Given the description of an element on the screen output the (x, y) to click on. 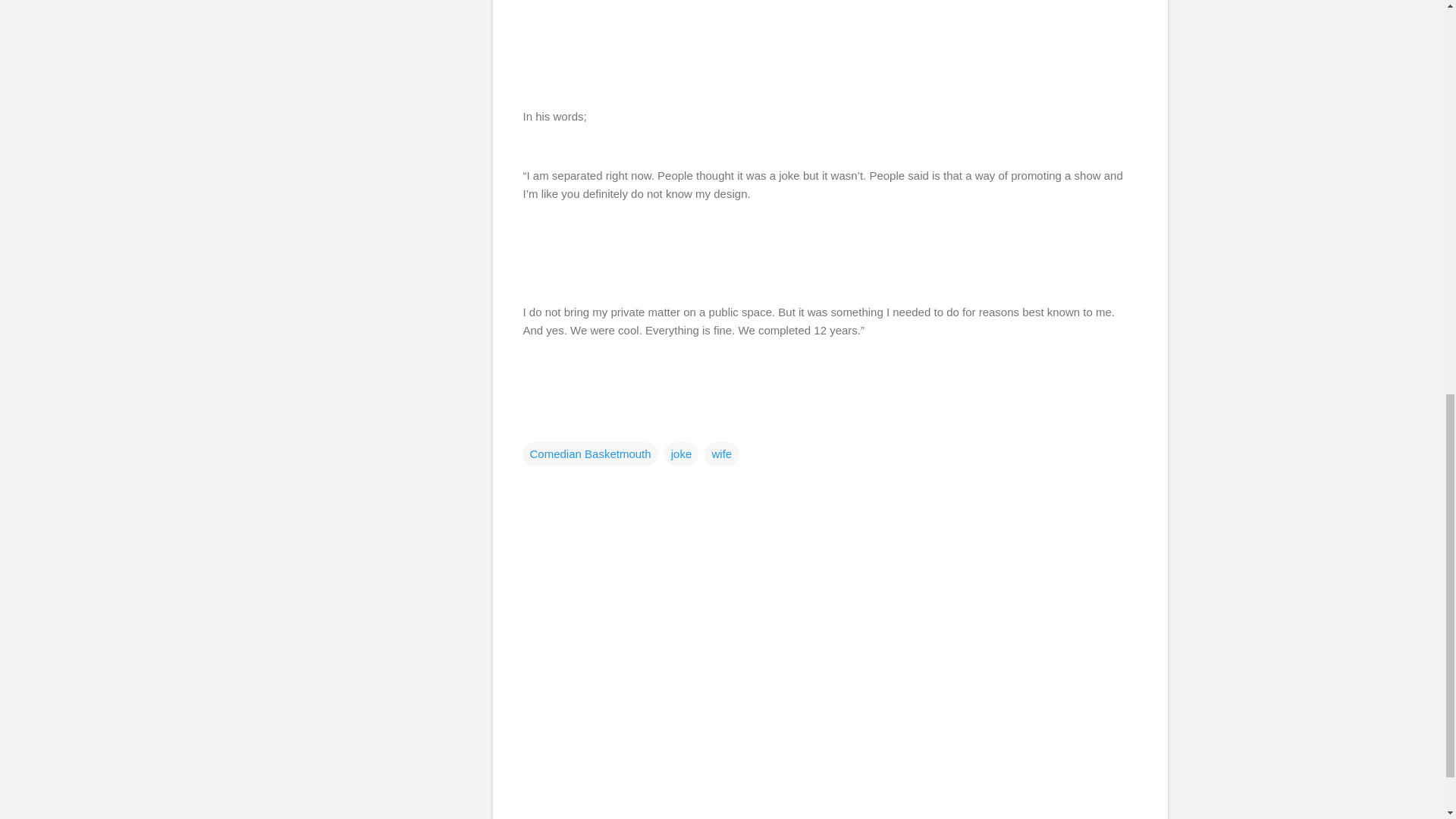
Comedian Basketmouth (590, 453)
joke (680, 453)
wife (721, 453)
